Given the description of an element on the screen output the (x, y) to click on. 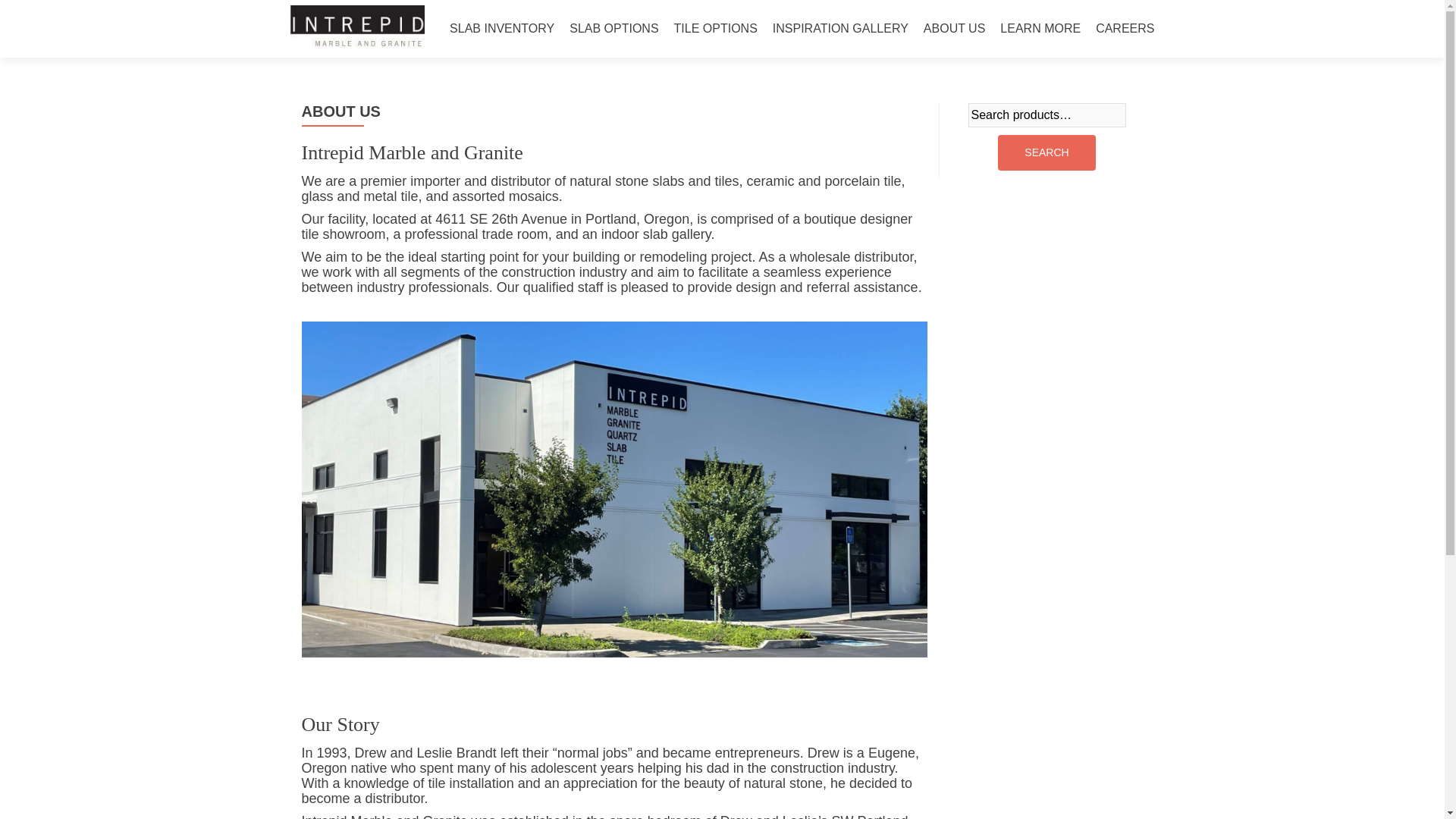
TILE OPTIONS (715, 28)
SLAB OPTIONS (613, 28)
SLAB INVENTORY (501, 28)
